Given the description of an element on the screen output the (x, y) to click on. 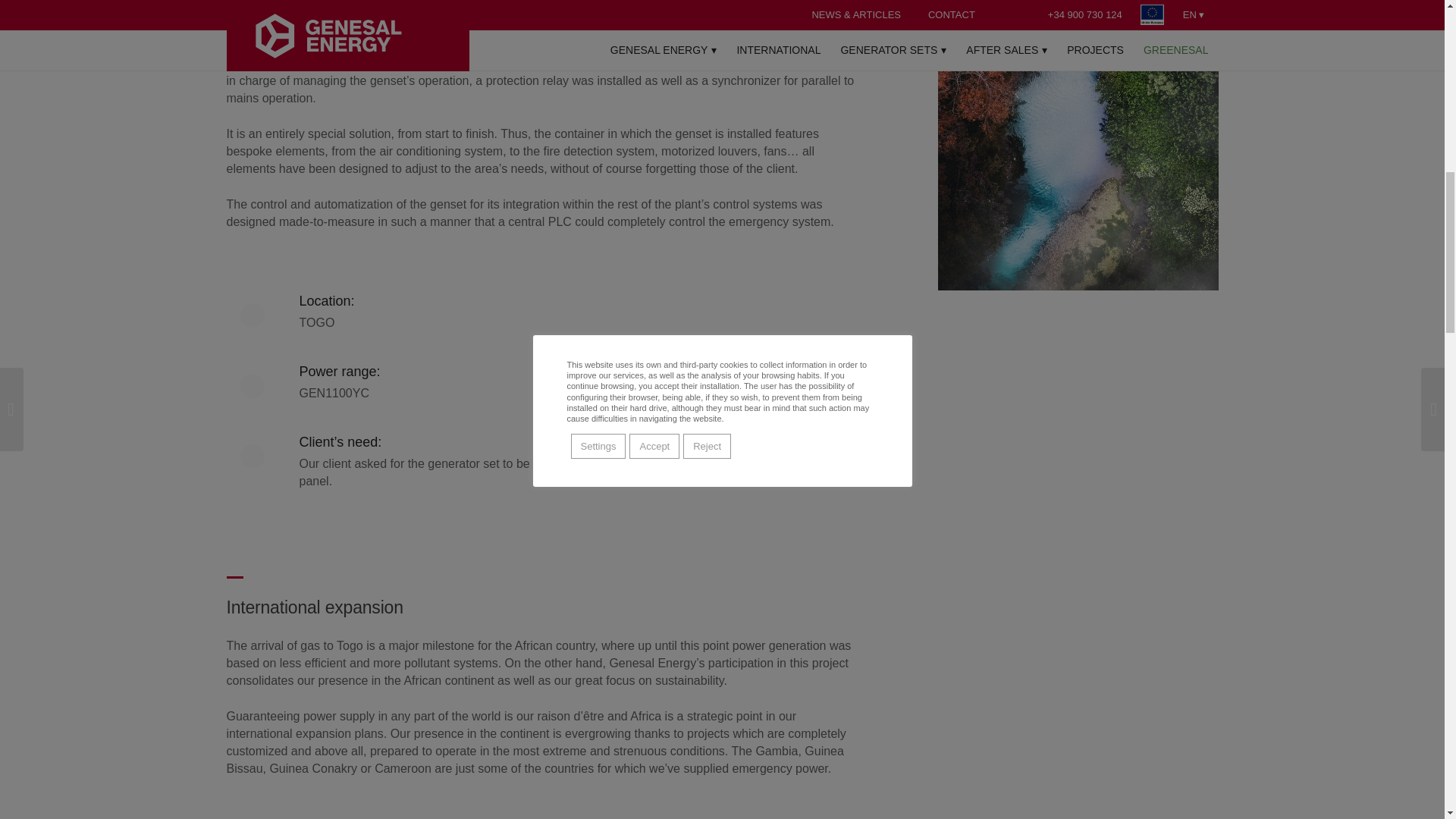
POWER RANGE: (339, 371)
